Given the description of an element on the screen output the (x, y) to click on. 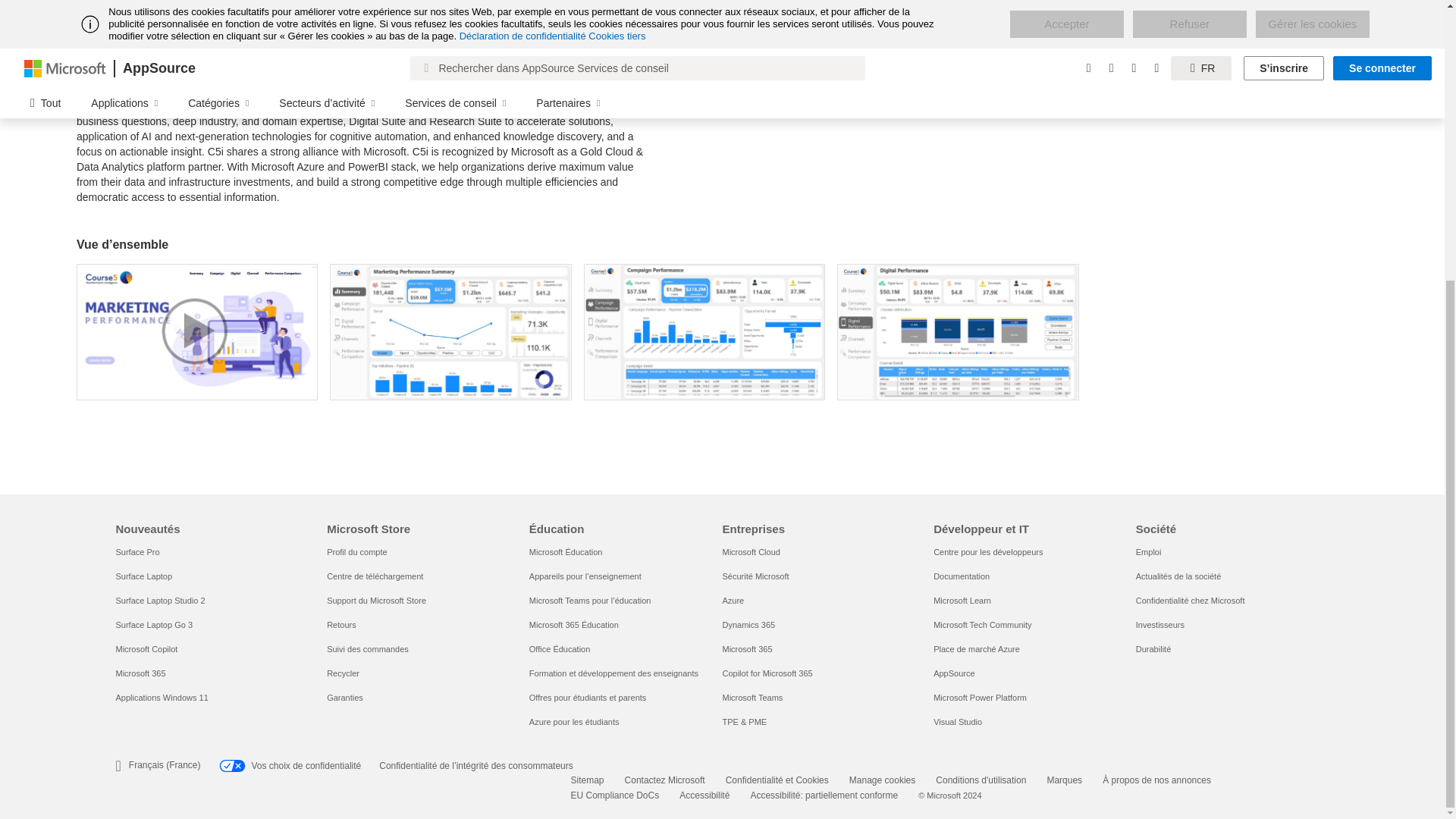
Suivi des commandes (367, 648)
Applications Windows 11 (161, 696)
Microsoft 365 (140, 673)
Surface Laptop (143, 575)
Surface Laptop Go 3 (153, 624)
Profil du compte (356, 551)
Surface Laptop Studio 2 (160, 600)
Retours (341, 624)
Surface Pro (136, 551)
Microsoft Copilot (146, 648)
Recycler (342, 673)
Support du Microsoft Store (376, 600)
